Given the description of an element on the screen output the (x, y) to click on. 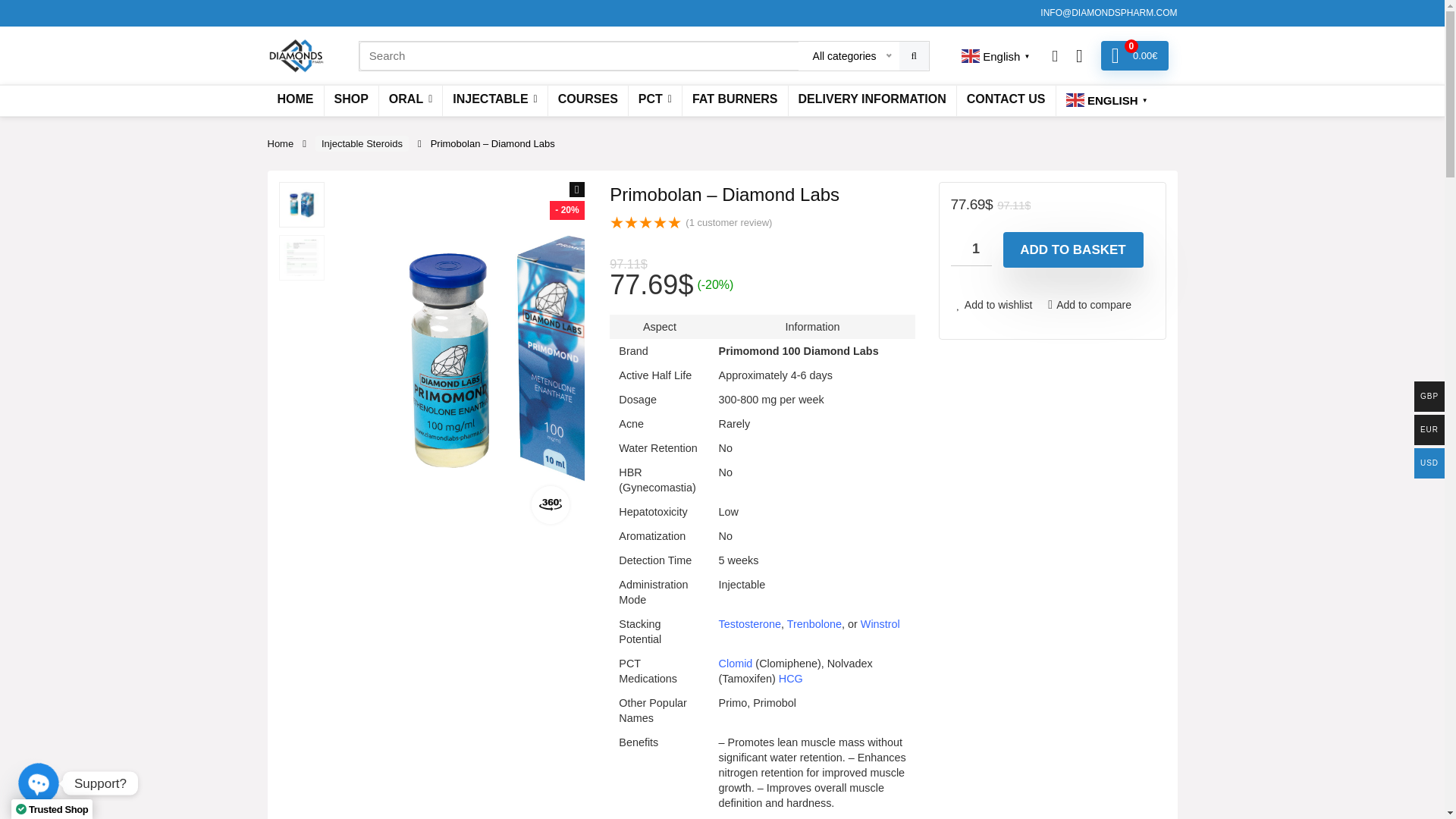
HOME (294, 99)
ORAL (410, 99)
1 (970, 248)
INJECTABLE (494, 99)
SHOP (351, 99)
PRIMOMOND-metenolone-enanthate (525, 360)
Rated 5 out of 5 (645, 222)
PCT (654, 99)
COURSES (587, 99)
